Given the description of an element on the screen output the (x, y) to click on. 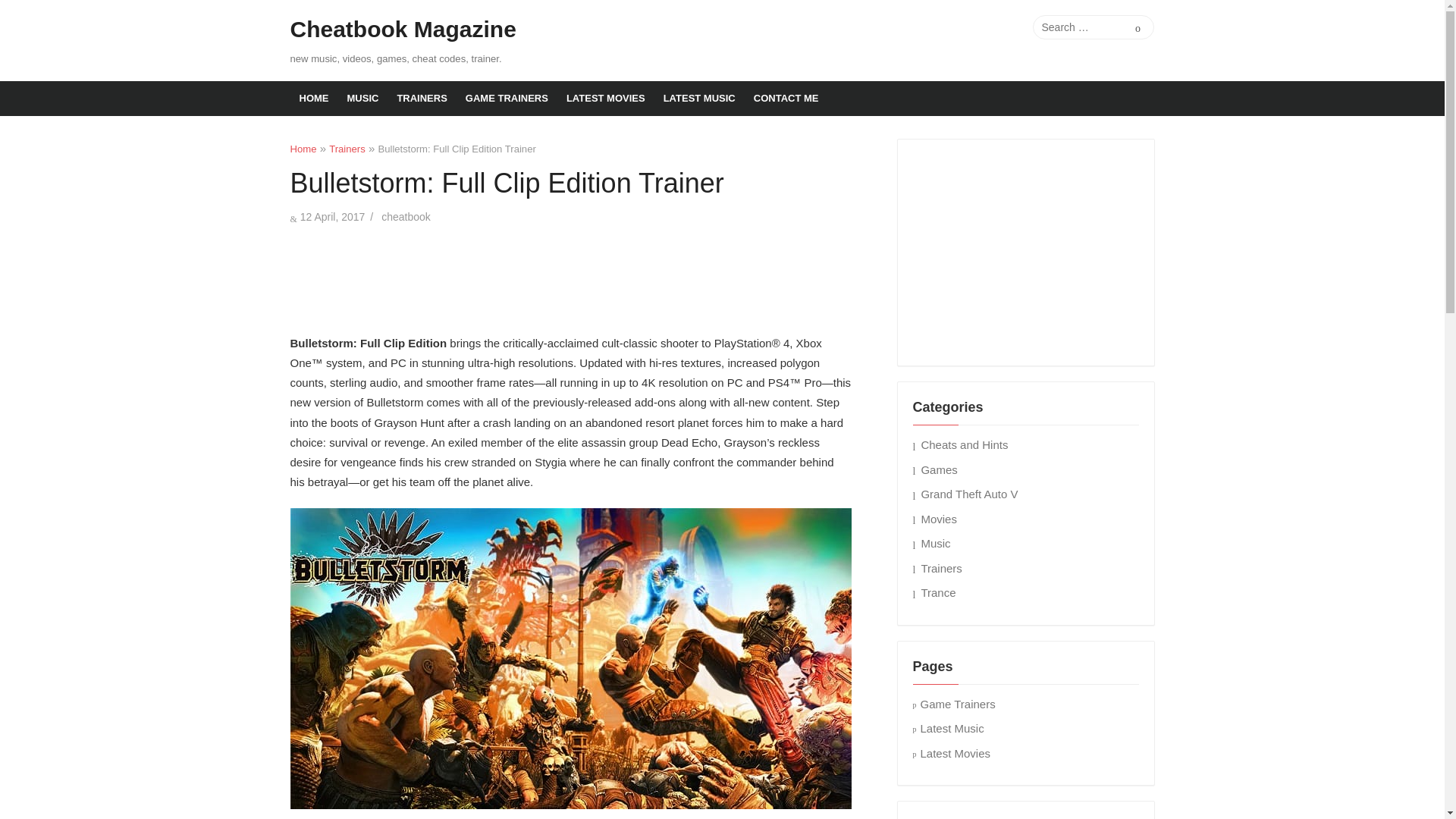
TRAINERS (421, 98)
Trainers (347, 148)
MUSIC (362, 98)
Search (1137, 27)
Advertisement (569, 275)
CONTACT ME (786, 98)
cheatbook (405, 216)
12 April, 2017 (332, 216)
LATEST MOVIES (605, 98)
LATEST MUSIC (698, 98)
